Given the description of an element on the screen output the (x, y) to click on. 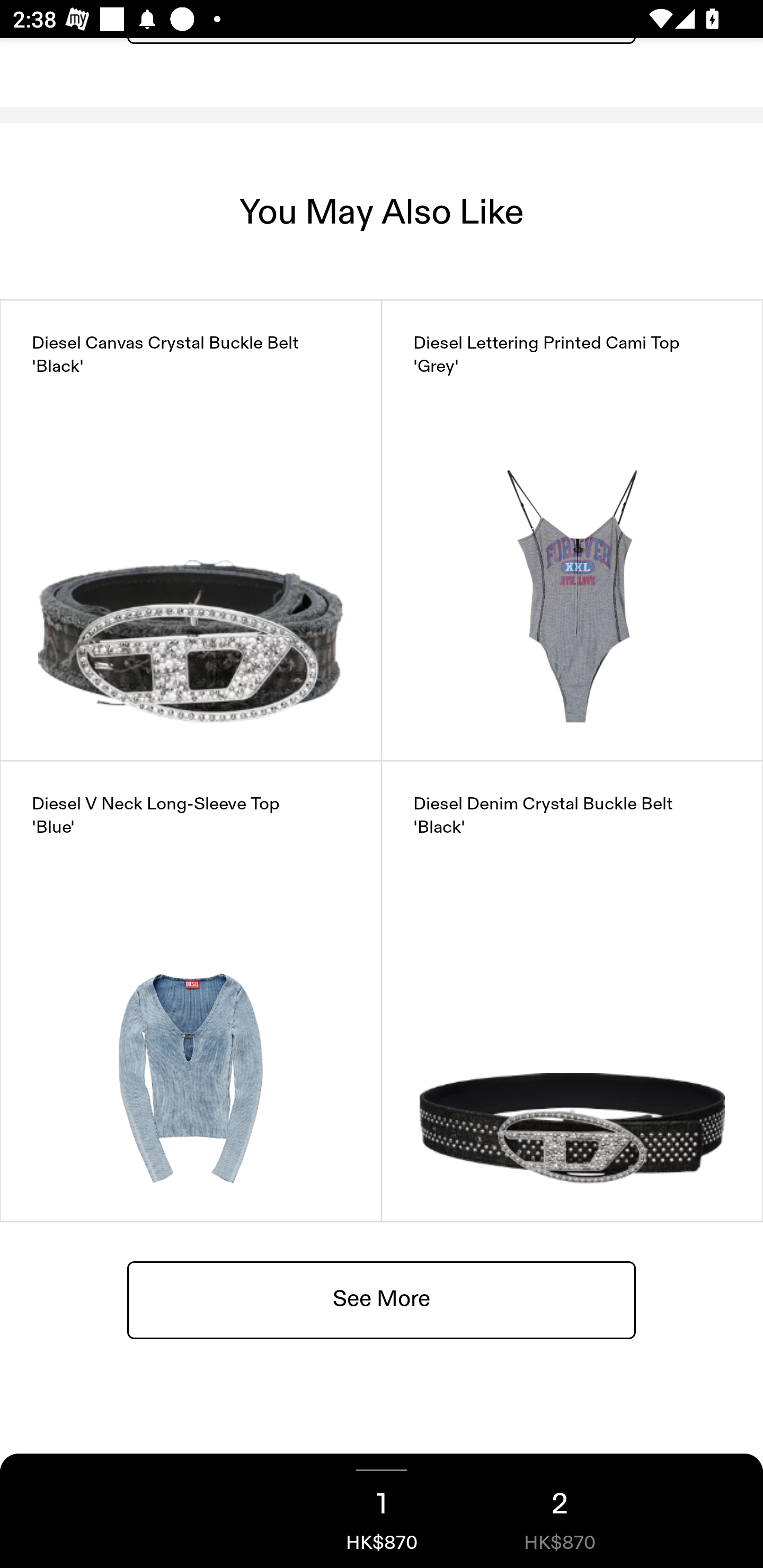
Diesel Canvas Crystal Buckle Belt 'Black' (190, 529)
Diesel Lettering Printed Cami Top 'Grey' (572, 529)
Diesel V Neck Long-Sleeve Top 'Blue' (190, 990)
Diesel Denim Crystal Buckle Belt 'Black' (572, 990)
See More (381, 1299)
1 HK$870 (381, 1510)
2 HK$870 (559, 1510)
